Given the description of an element on the screen output the (x, y) to click on. 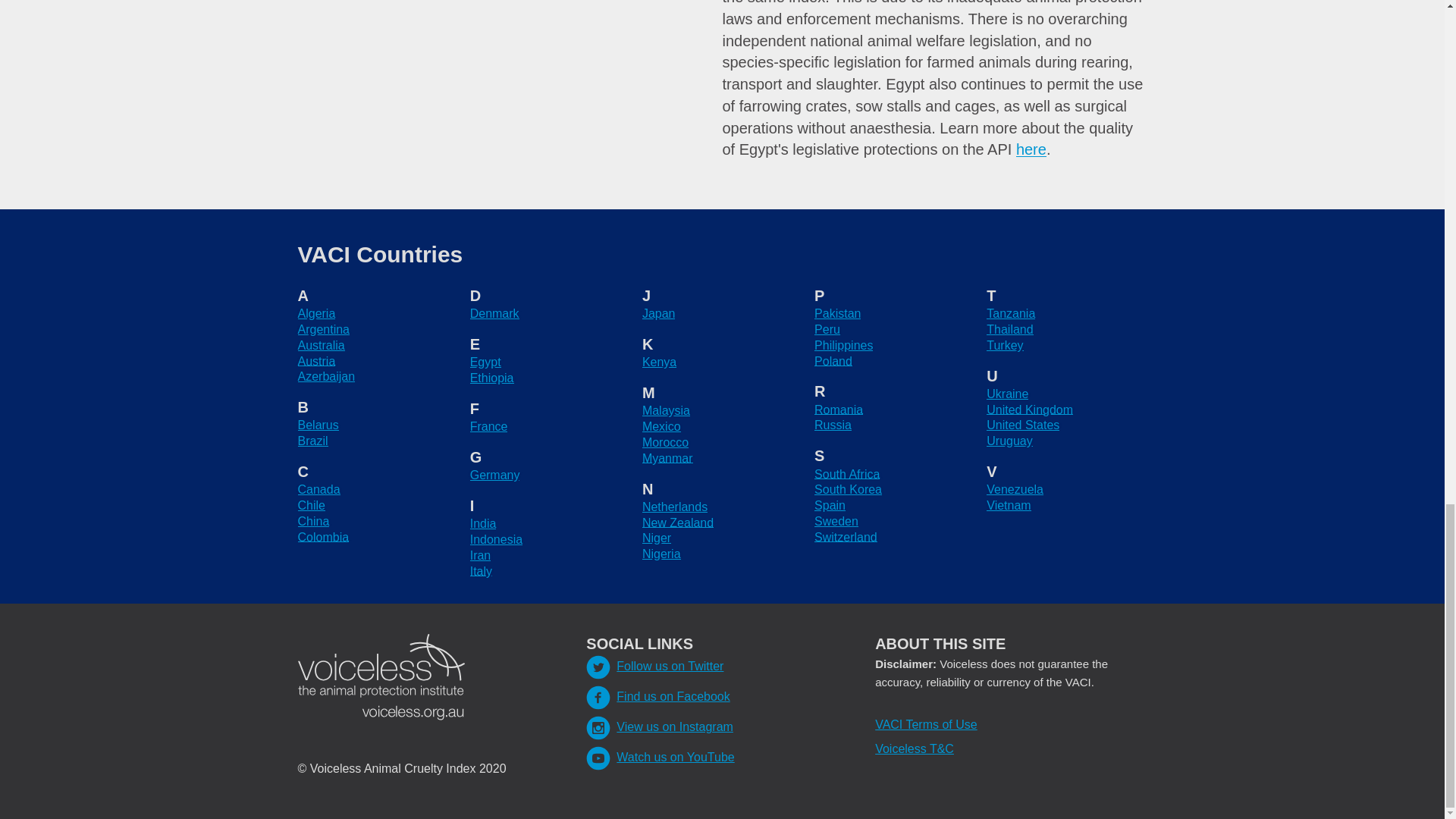
Colombia (323, 536)
China (313, 521)
Canada (318, 489)
Australia (320, 345)
Japan (658, 313)
Iran (481, 554)
Denmark (494, 313)
here (1031, 149)
Brazil (312, 440)
Austria (315, 360)
